Given the description of an element on the screen output the (x, y) to click on. 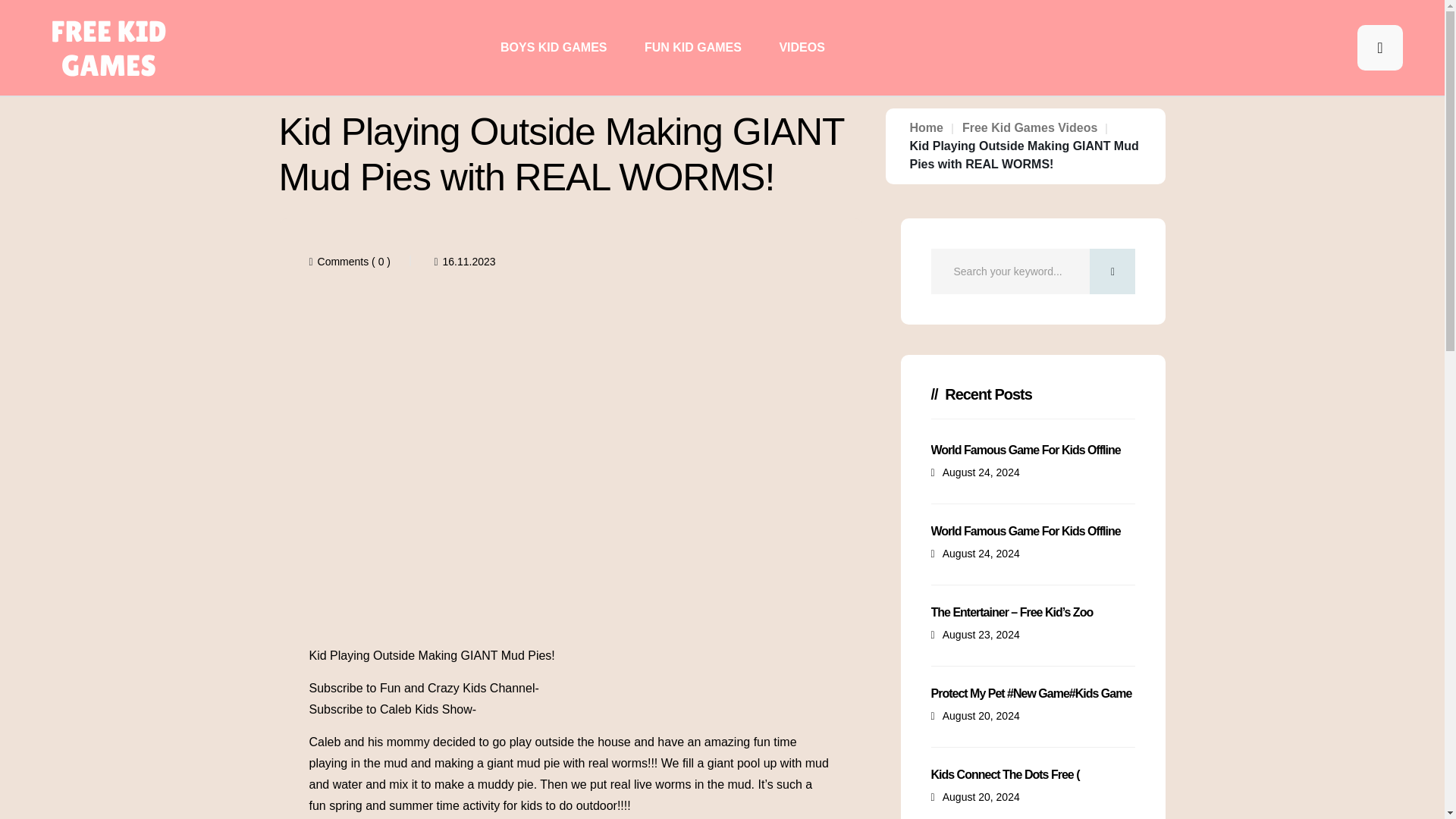
World Famous Game For Kids Offline (1026, 531)
Fun kid games (693, 47)
Free Kid Games Videos (1029, 127)
Boys kid games (553, 47)
Videos (801, 47)
BOYS KID GAMES (553, 47)
VIDEOS (801, 47)
World Famous Game For Kids Offline (1026, 450)
FUN KID GAMES (693, 47)
